Given the description of an element on the screen output the (x, y) to click on. 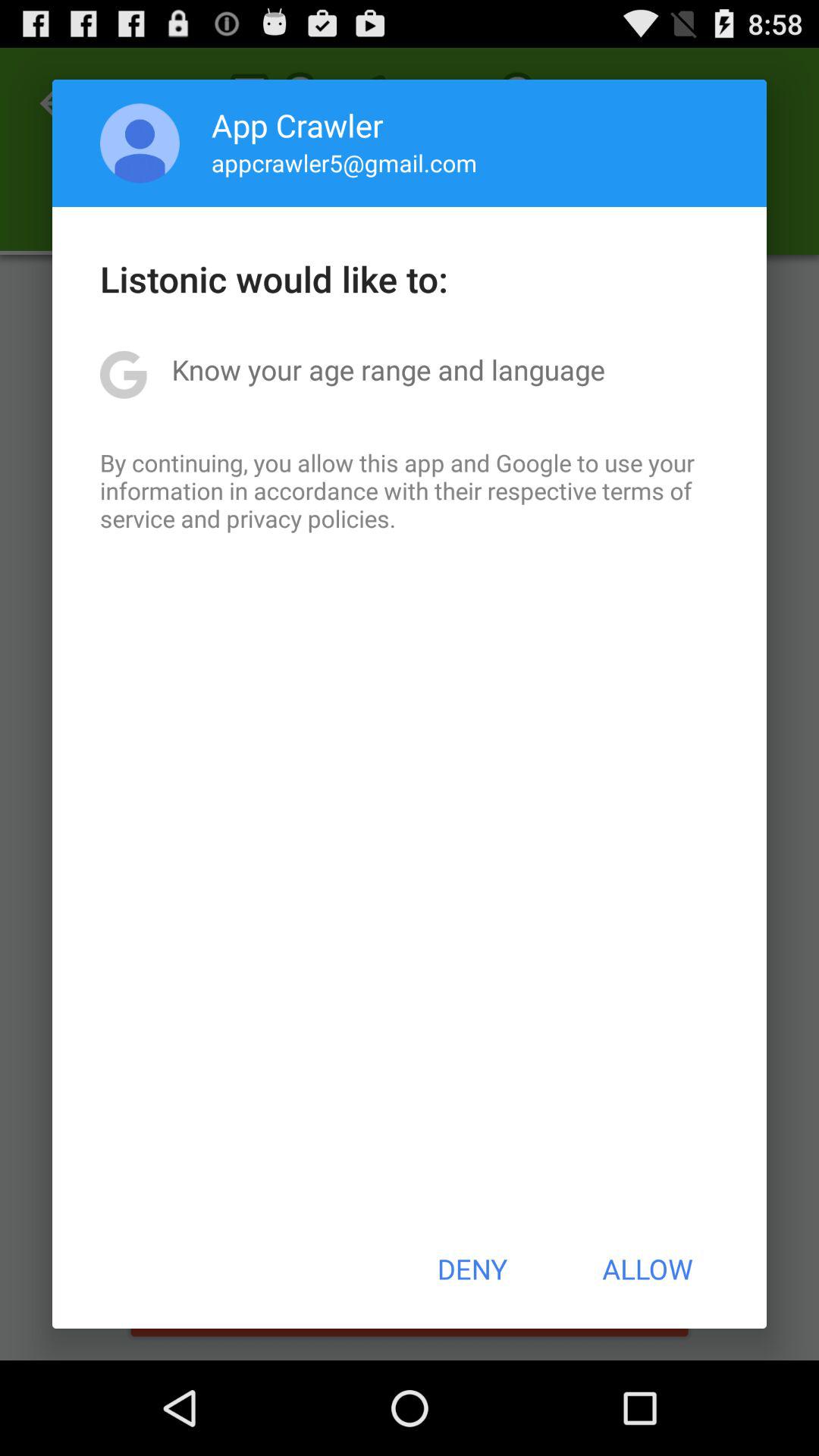
click icon below listonic would like (388, 369)
